Given the description of an element on the screen output the (x, y) to click on. 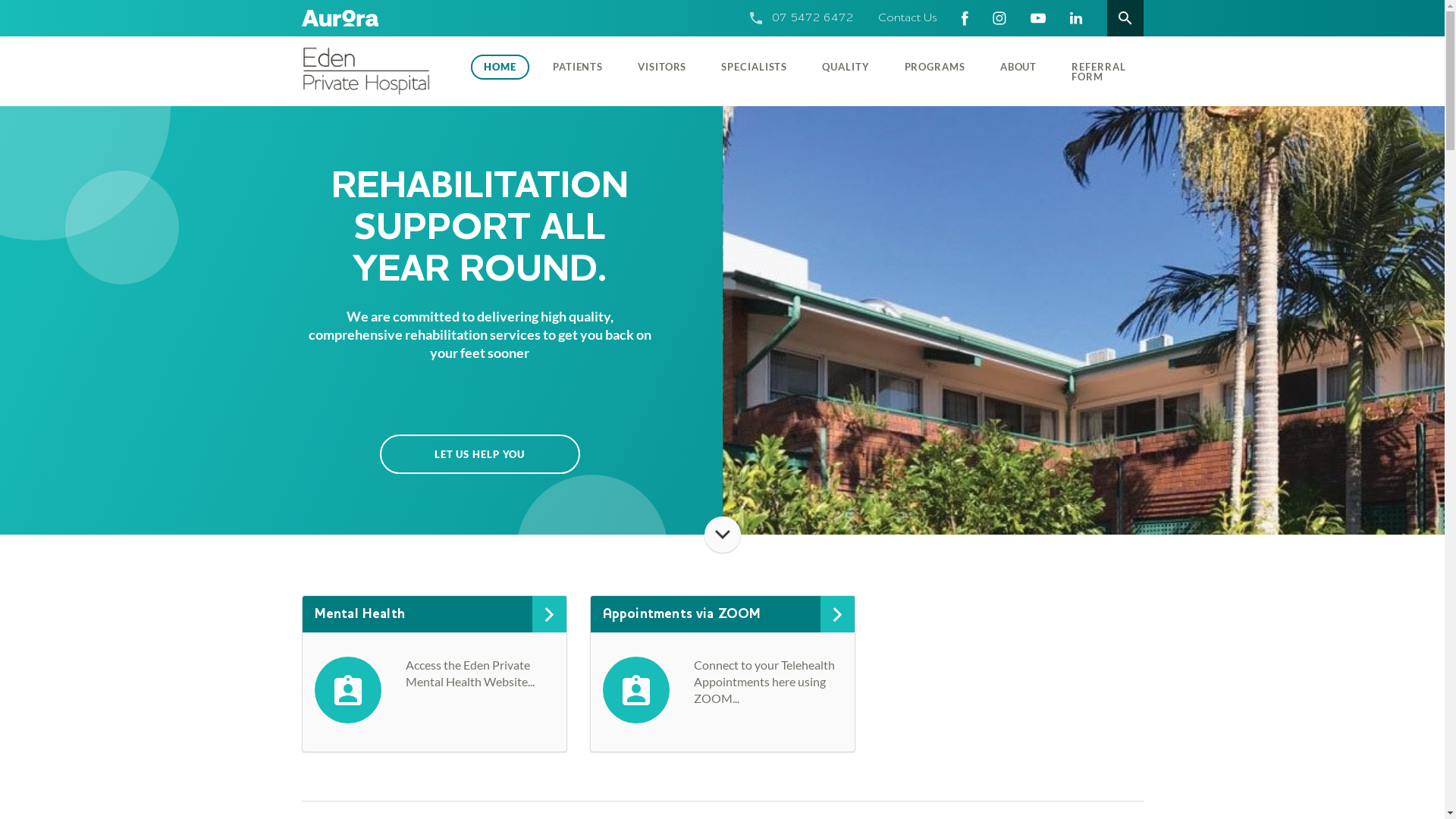
QUALITY Element type: text (845, 66)
ABOUT Element type: text (1018, 66)
SCROLL TO MAIN CONTENT Element type: text (721, 534)
VISITORS Element type: text (661, 66)
youTube channel page - UCmlIpi6FoZz6aSYolo2XFZA Element type: text (1036, 17)
Eden Private Hospital Element type: text (377, 71)
LinkedIn - 74750267 Element type: text (1075, 18)
Facebook page - edenprivate Element type: text (964, 17)
instagram page - edenprivatehospital Element type: text (998, 18)
Contact Us Element type: text (907, 18)
HOME
(CURRENT) Element type: text (499, 66)
07 5472 6472 Element type: text (812, 18)
LET US HELP YOU Element type: text (479, 453)
PROGRAMS Element type: text (934, 66)
REFERRAL FORM Element type: text (1098, 71)
PATIENTS Element type: text (577, 66)
SPECIALISTS Element type: text (753, 66)
